Given the description of an element on the screen output the (x, y) to click on. 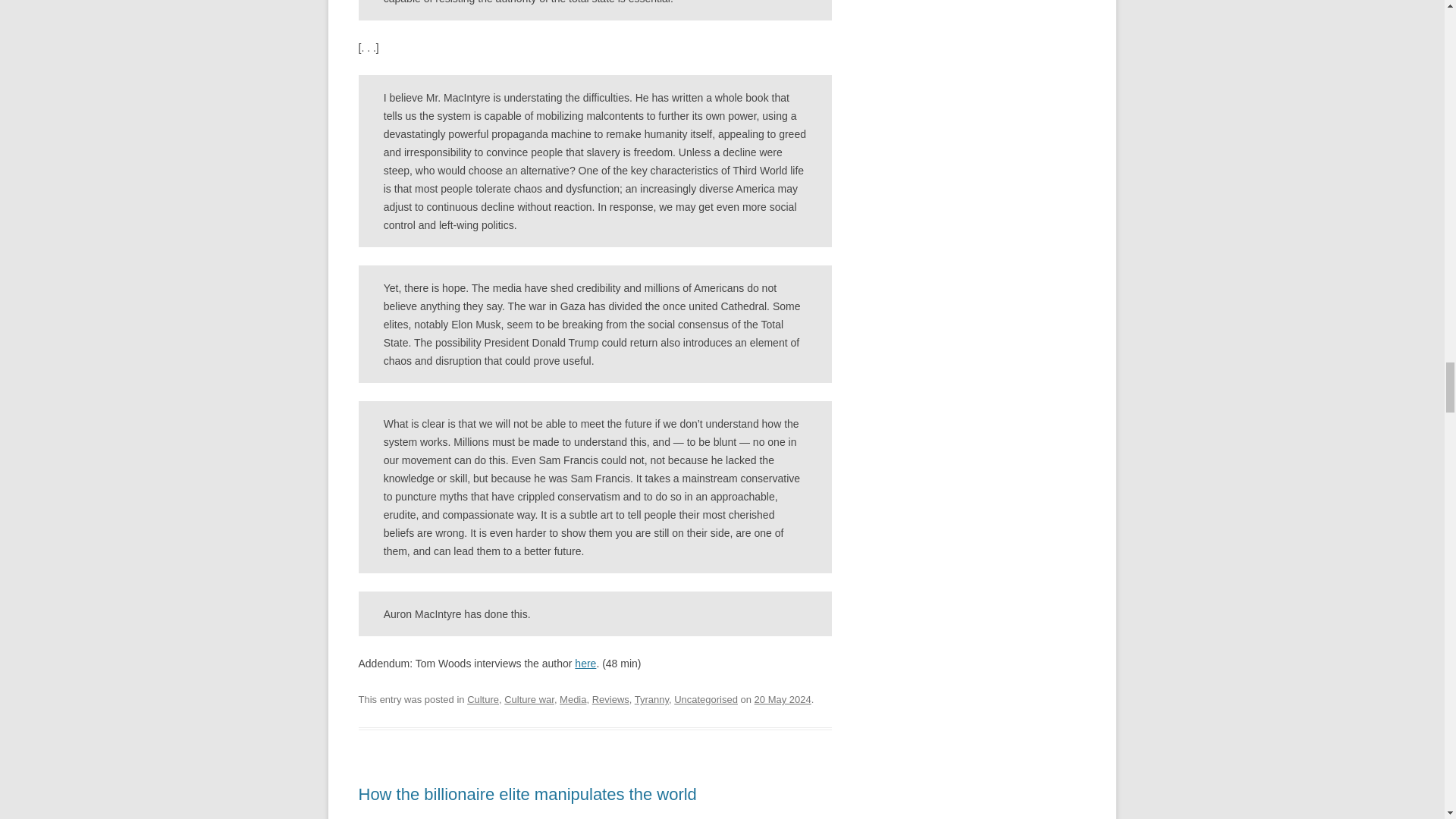
here (585, 663)
Media (572, 699)
20 May 2024 (782, 699)
Tyranny (651, 699)
9:06 am (782, 699)
Uncategorised (706, 699)
Culture war (528, 699)
Reviews (610, 699)
Culture (483, 699)
How the billionaire elite manipulates the world (526, 793)
